Given the description of an element on the screen output the (x, y) to click on. 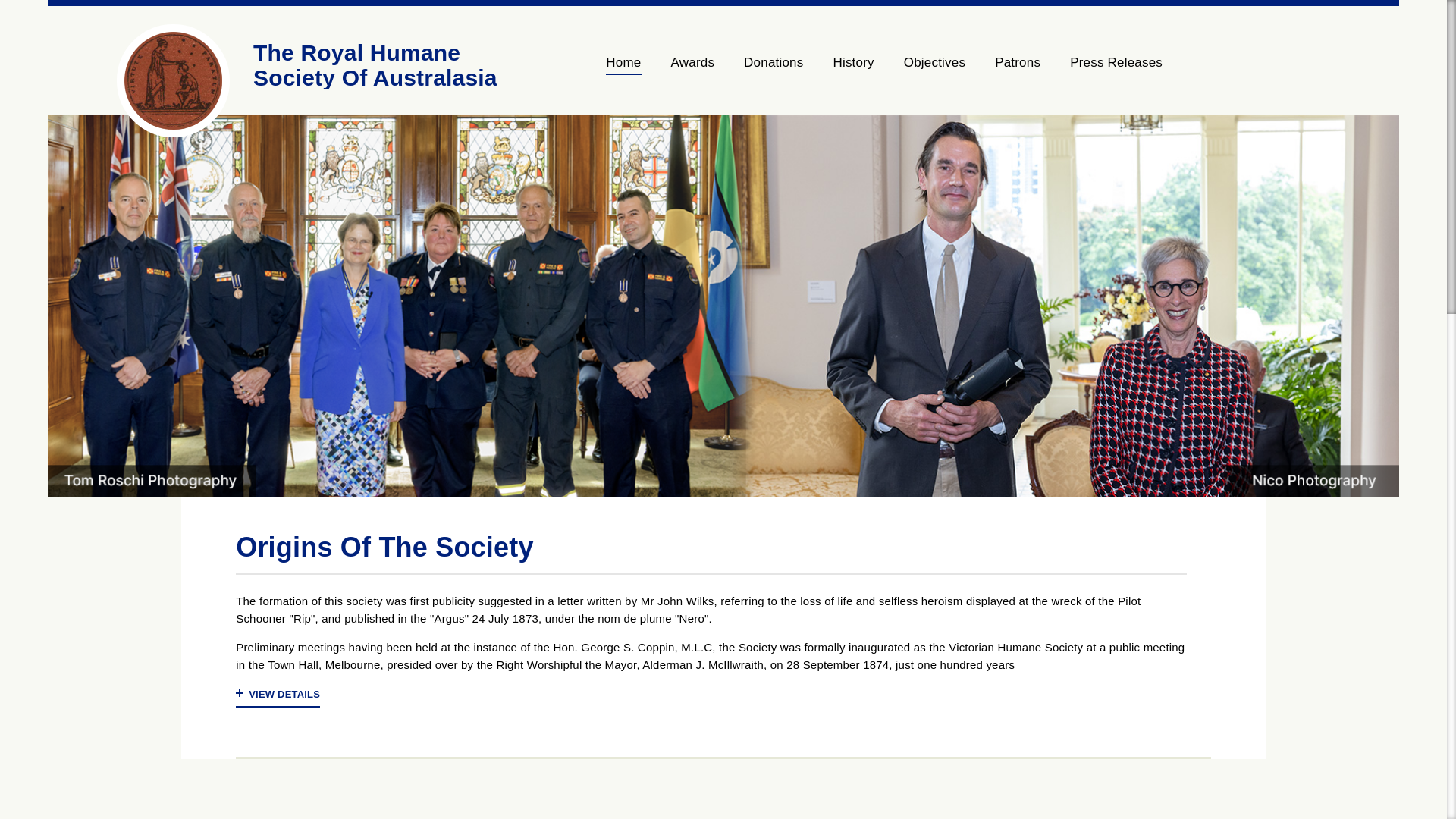
Donations Element type: text (773, 69)
Press Releases Element type: text (1108, 69)
The Royal Humane Society Of Australasia Element type: text (375, 65)
VIEW DETAILS Element type: text (277, 696)
Patrons Element type: text (1017, 69)
Awards Element type: text (692, 69)
Home Element type: text (630, 69)
Objectives Element type: text (934, 69)
History Element type: text (853, 69)
